Given the description of an element on the screen output the (x, y) to click on. 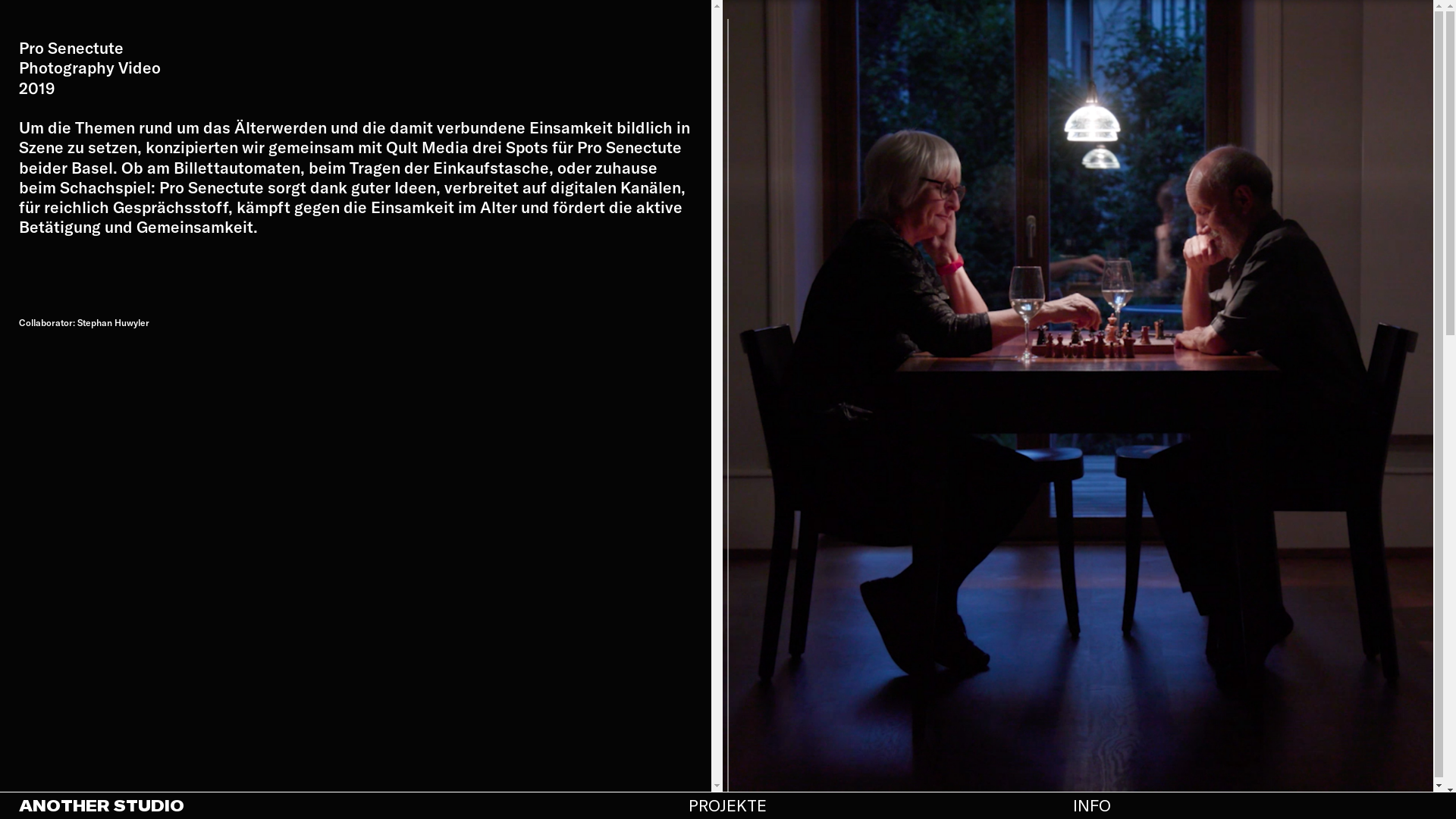
INFO Element type: text (1091, 804)
ANOTHER STUDIO Element type: text (251, 804)
PROJEKTE Element type: text (727, 804)
